Given the description of an element on the screen output the (x, y) to click on. 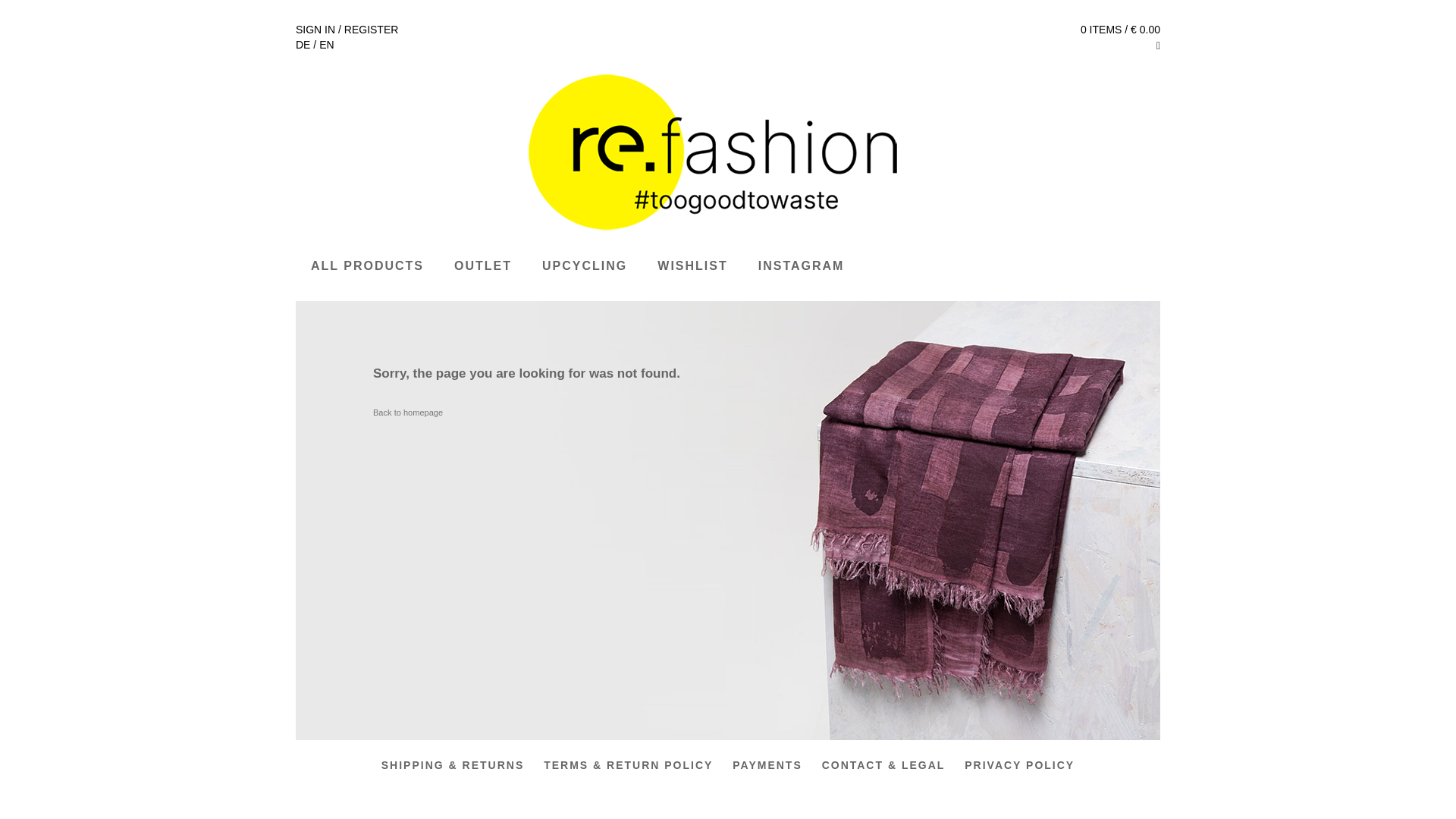
ALL PRODUCTS (367, 266)
EN (325, 44)
UPCYCLING (584, 266)
REGISTER (370, 29)
Back to homepage (407, 411)
INSTAGRAM (801, 266)
DE (302, 44)
WISHLIST (692, 266)
SIGN IN (314, 29)
